Given the description of an element on the screen output the (x, y) to click on. 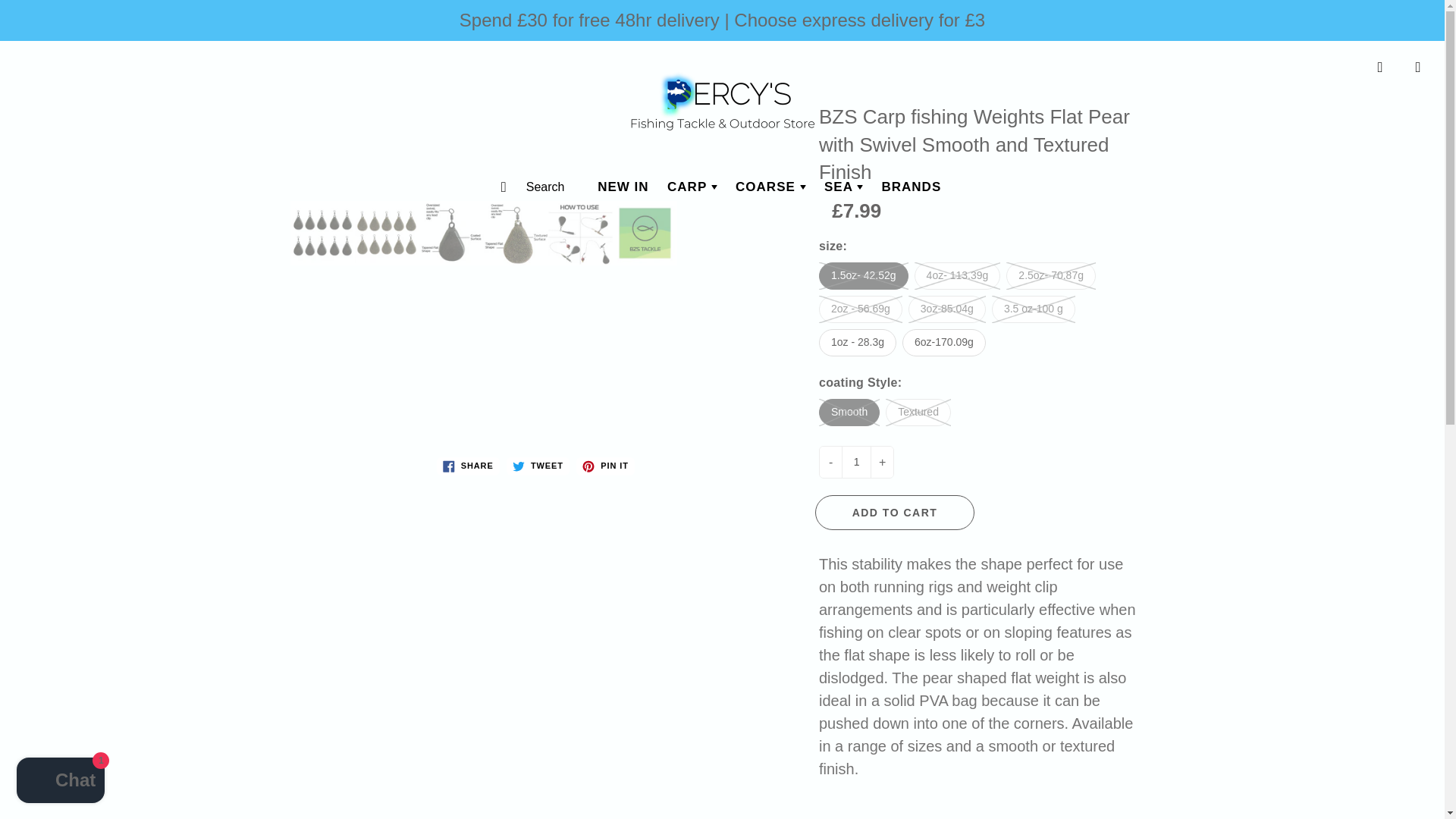
Search (509, 187)
You have 0 items in your cart (1417, 67)
NEW IN (622, 187)
CARP (692, 187)
COARSE (770, 187)
Share on Facebook (467, 466)
1 (855, 461)
Pin on Pinterest (604, 466)
My account (1379, 67)
